Given the description of an element on the screen output the (x, y) to click on. 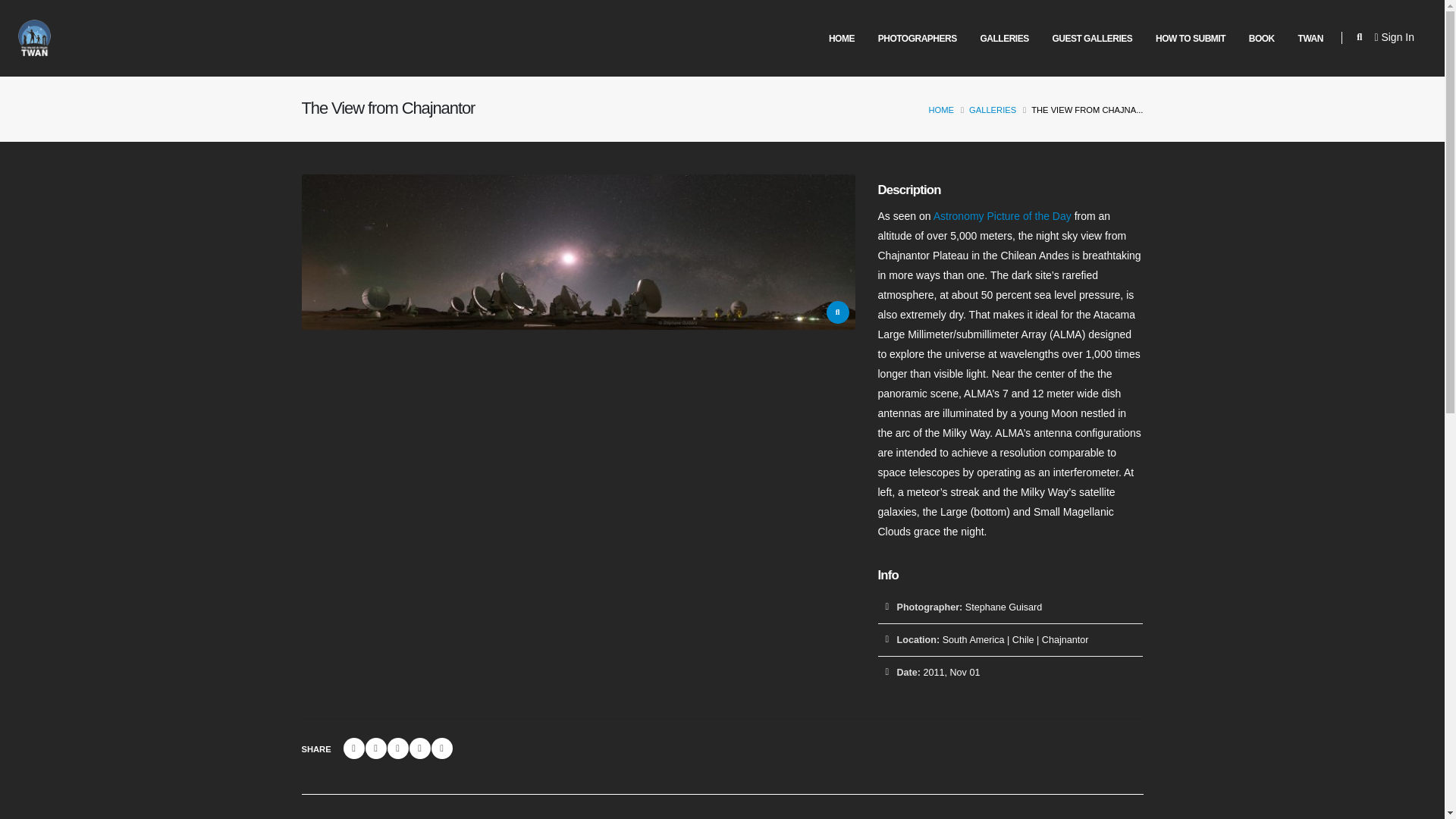
Facebook (323, 748)
PHOTOGRAPHERS (917, 38)
Linkedin (370, 748)
Email (419, 748)
GALLERIES (1004, 38)
Pinterest (395, 748)
Twitter (346, 748)
